Given the description of an element on the screen output the (x, y) to click on. 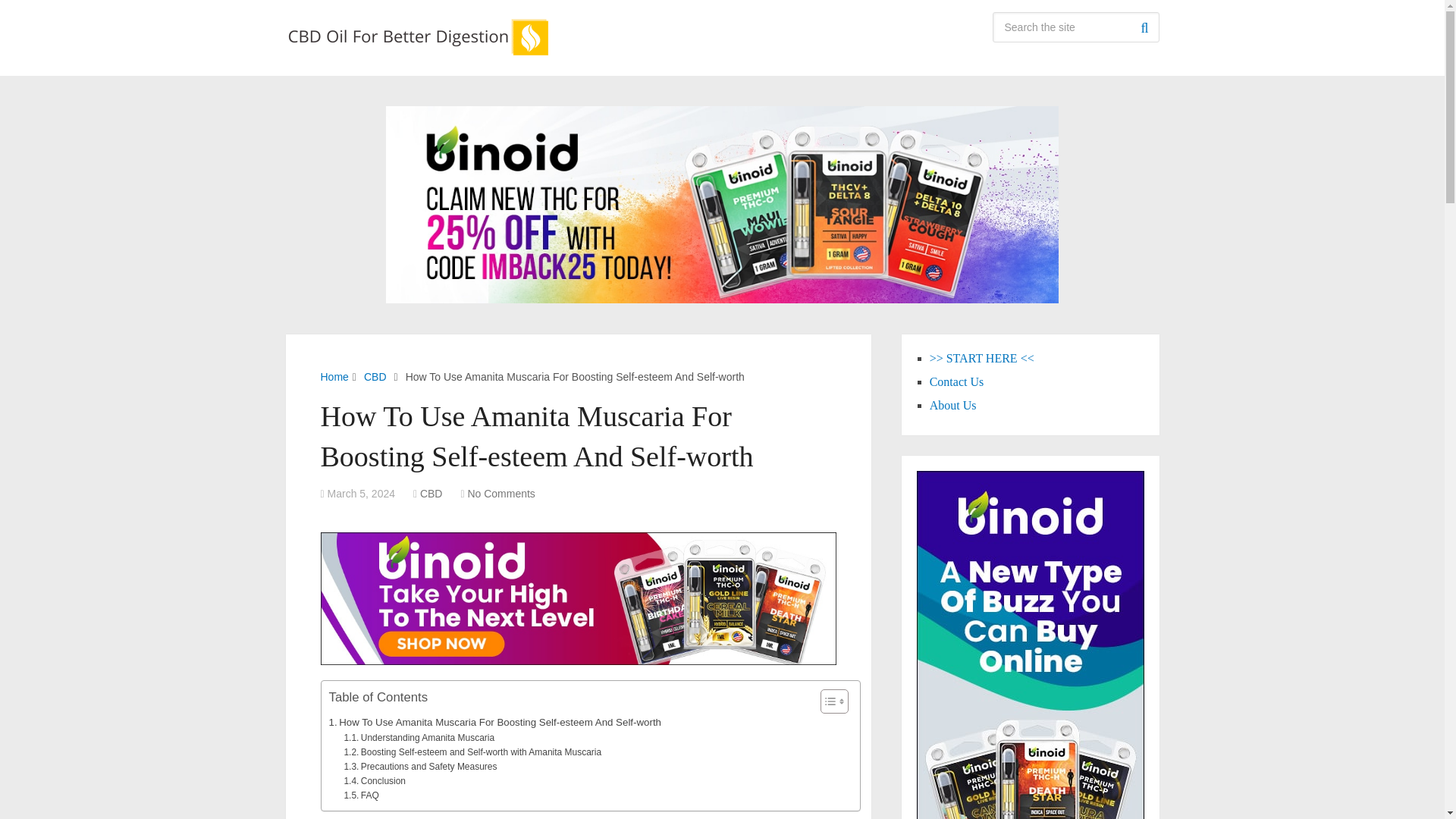
CBD (431, 493)
Boosting Self-esteem and Self-worth with Amanita Muscaria (472, 752)
Boosting Self-esteem and Self-worth with Amanita Muscaria (472, 752)
Conclusion (374, 780)
Understanding Amanita Muscaria (419, 738)
No Comments (500, 493)
Search (1143, 27)
Conclusion (374, 780)
CBD (375, 377)
